Given the description of an element on the screen output the (x, y) to click on. 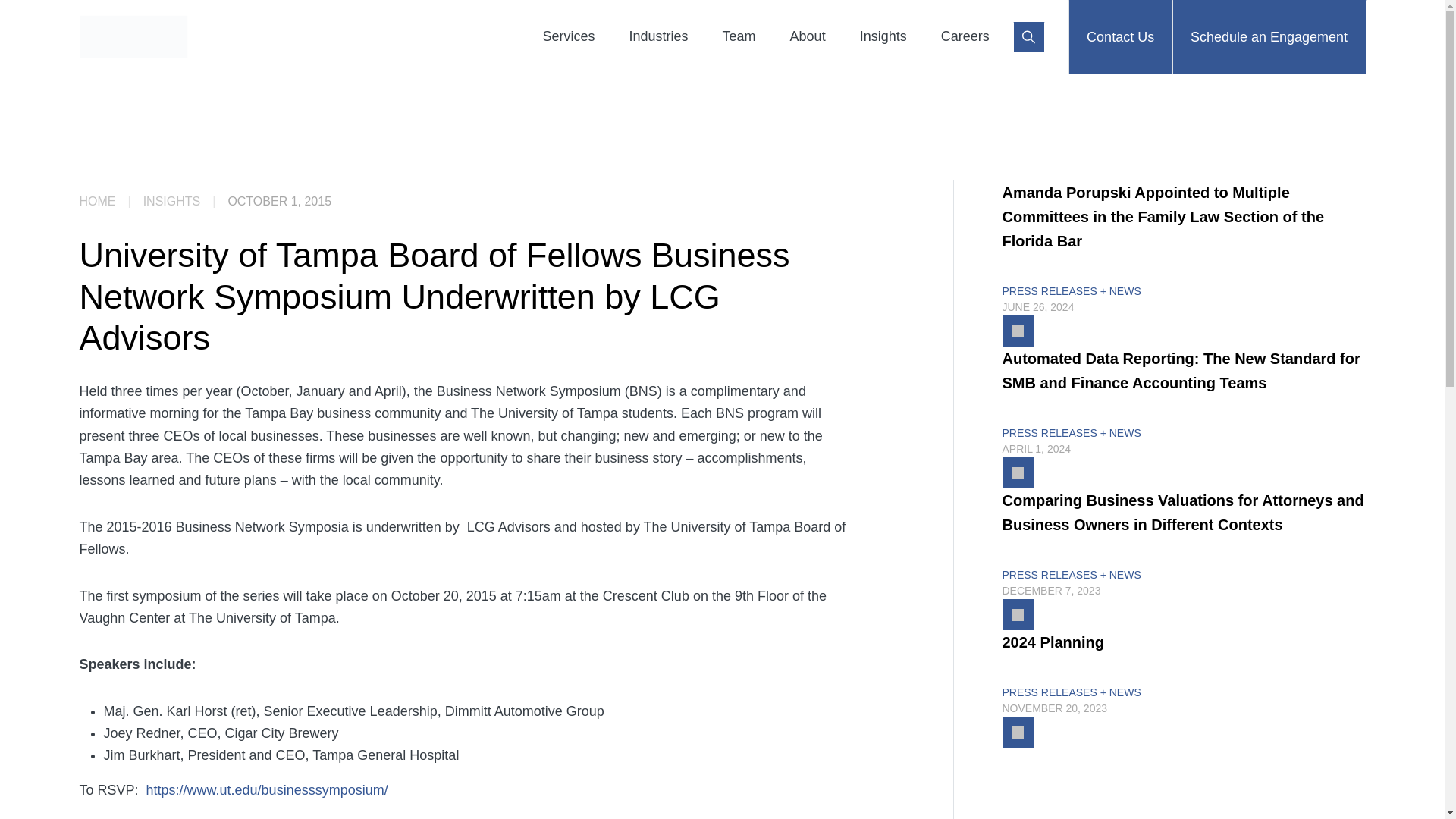
Schedule an Engagement (1268, 37)
Contact Us (1120, 37)
